Given the description of an element on the screen output the (x, y) to click on. 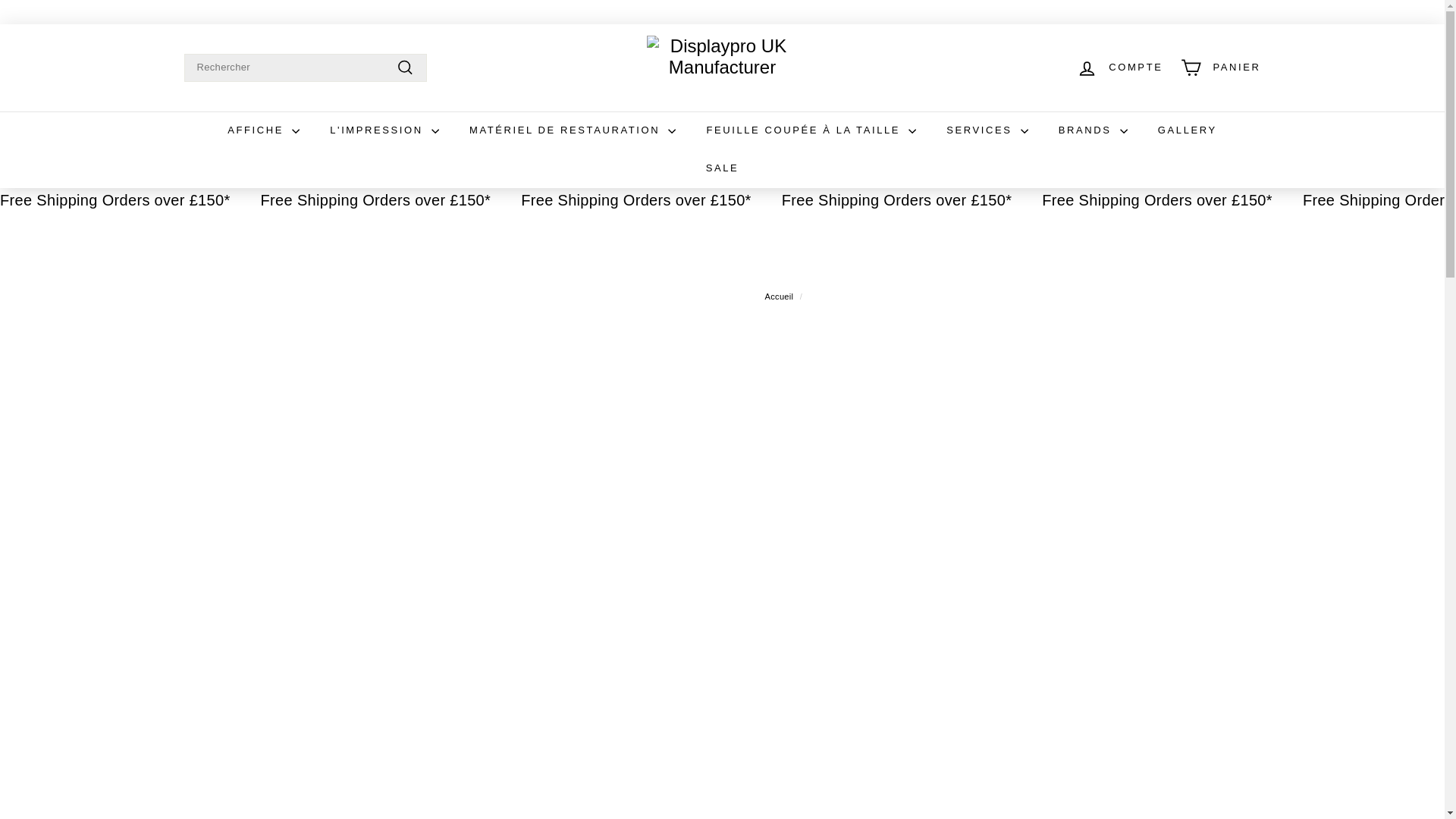
PANIER (1220, 67)
COMPTE (1119, 67)
